Given the description of an element on the screen output the (x, y) to click on. 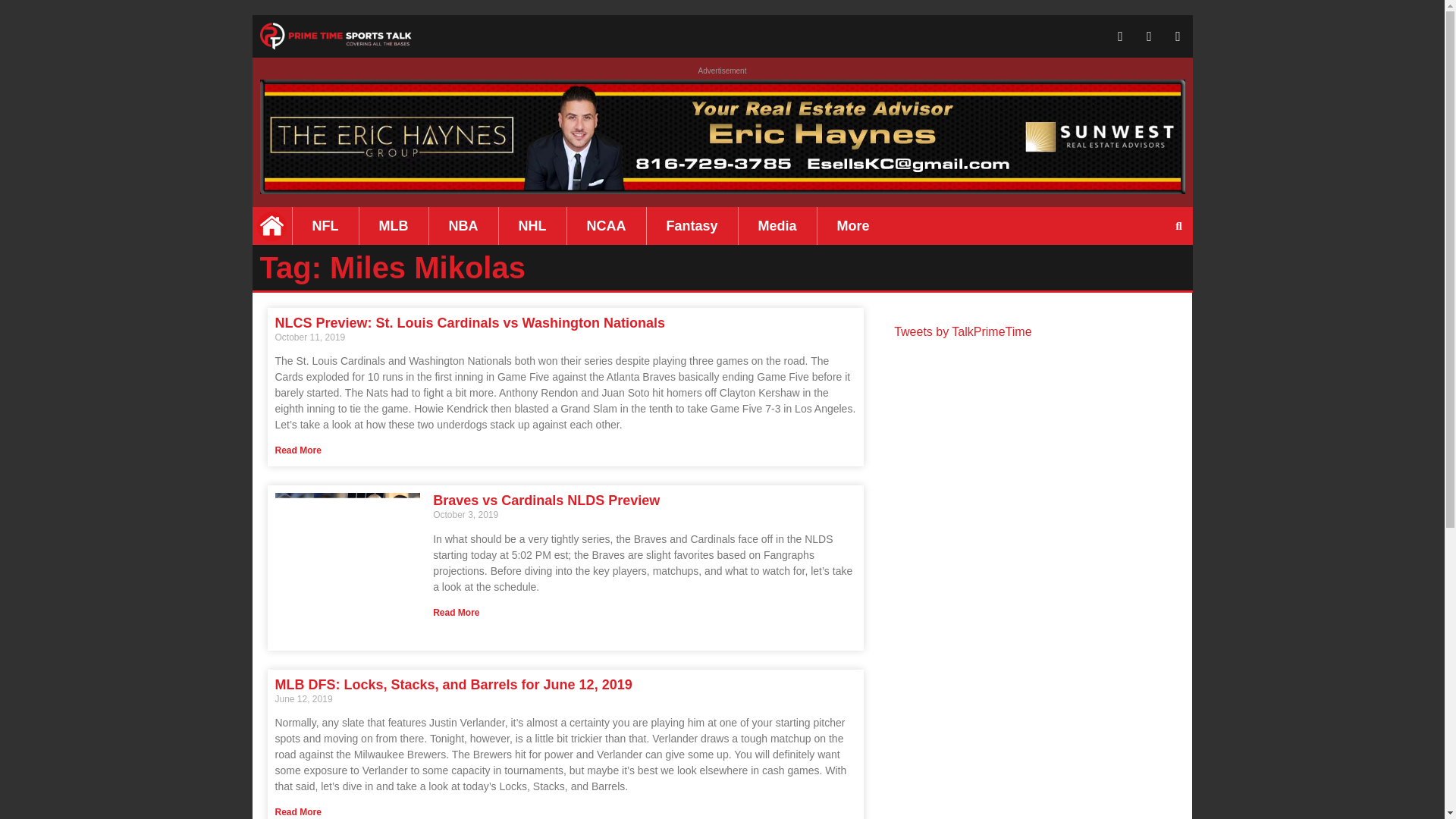
NBA (463, 225)
Home (271, 225)
MLB (393, 225)
NFL (325, 225)
NHL (532, 225)
